Given the description of an element on the screen output the (x, y) to click on. 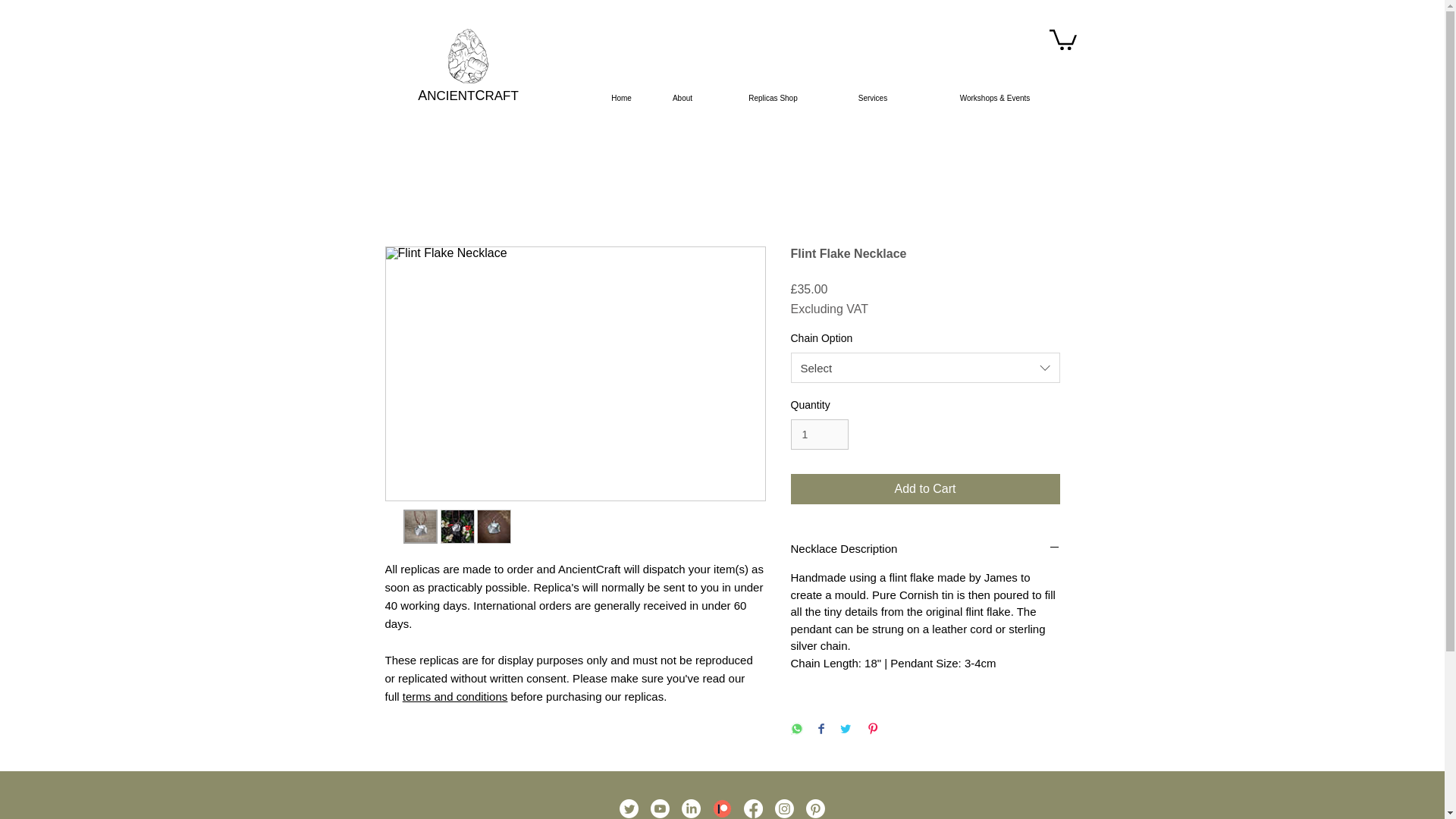
terms and conditions (454, 696)
Services (872, 98)
1 (818, 434)
Home (621, 98)
Add to Cart (924, 489)
ANCIENTCRAFT (467, 95)
Necklace Description (924, 548)
About (682, 98)
Replicas Shop (772, 98)
Select (924, 367)
